Given the description of an element on the screen output the (x, y) to click on. 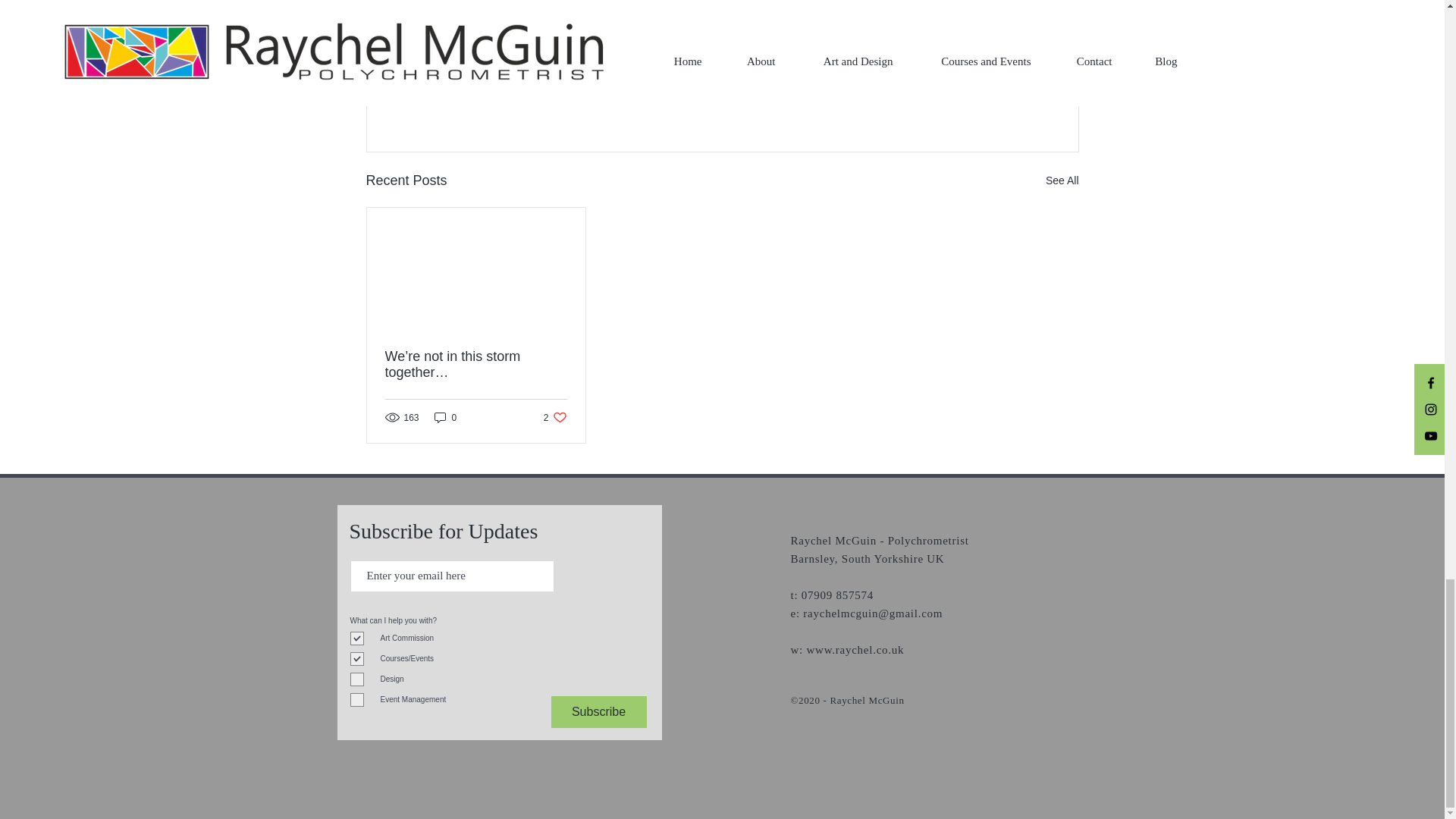
change (521, 3)
0 (445, 417)
ExcludedUK (973, 51)
See All (1061, 180)
www.raychel.co.uk (855, 649)
Subscribe (598, 712)
Course (666, 3)
Brexit (464, 3)
ExcludedUK (593, 3)
Journey (727, 3)
